Given the description of an element on the screen output the (x, y) to click on. 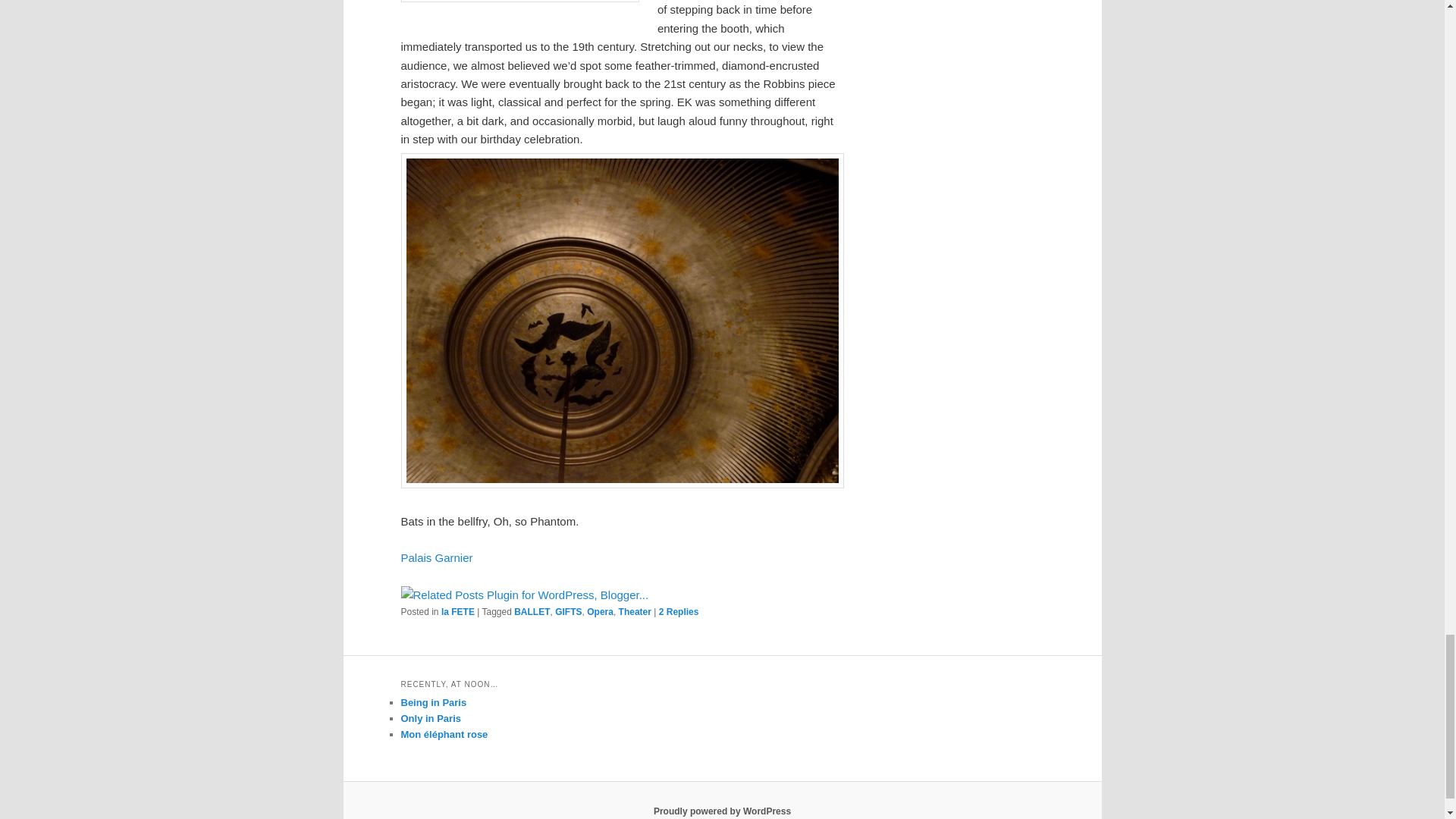
la FETE (457, 611)
Palais Garnier (435, 557)
The coming season (435, 557)
BALLET (531, 611)
